Given the description of an element on the screen output the (x, y) to click on. 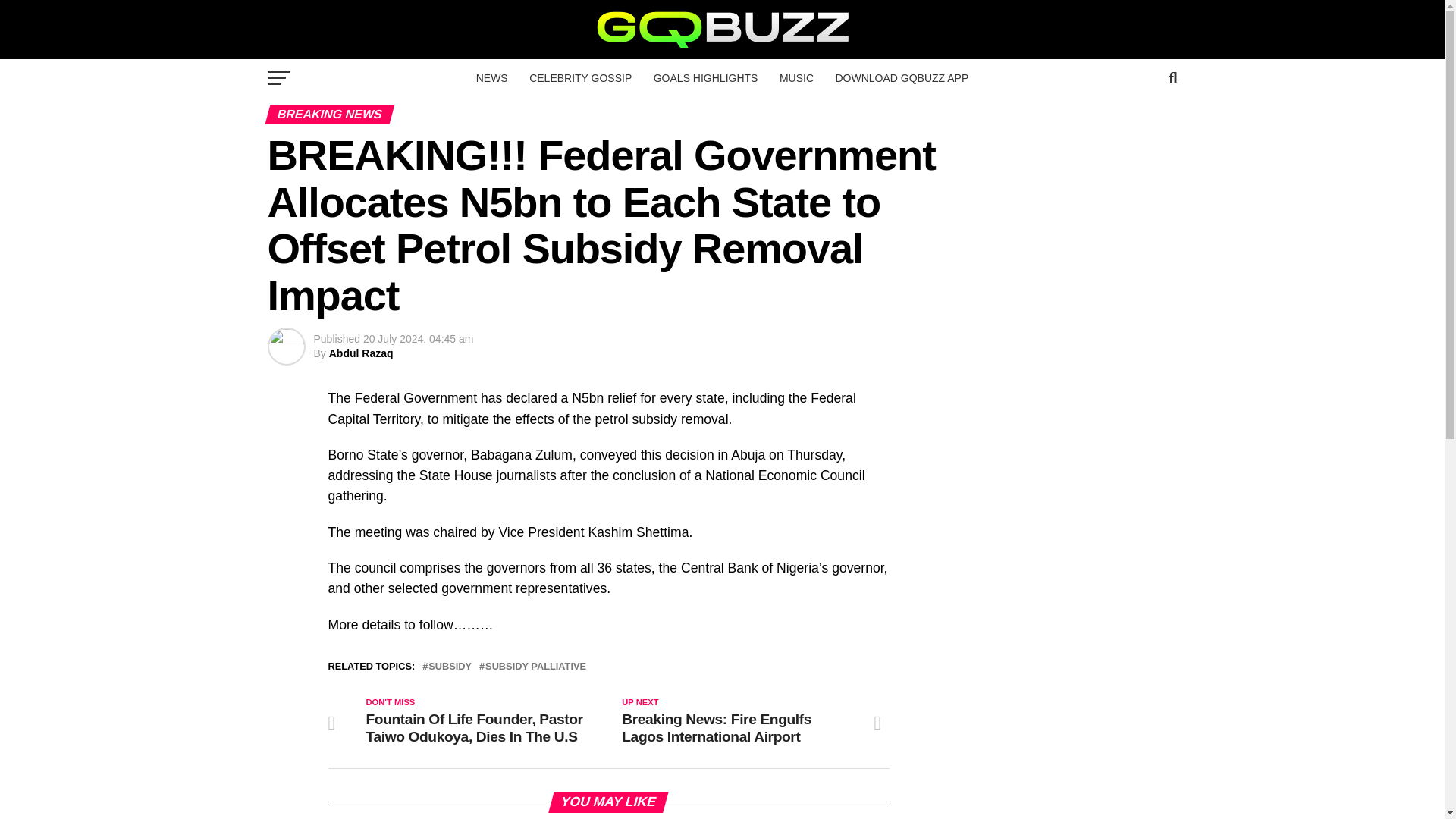
Posts by Abdul Razaq (361, 353)
CELEBRITY GOSSIP (579, 77)
NEWS (491, 77)
DOWNLOAD GQBUZZ APP (900, 77)
MUSIC (796, 77)
Abdul Razaq (361, 353)
GOALS HIGHLIGHTS (706, 77)
SUBSIDY PALLIATIVE (535, 666)
SUBSIDY (449, 666)
